Given the description of an element on the screen output the (x, y) to click on. 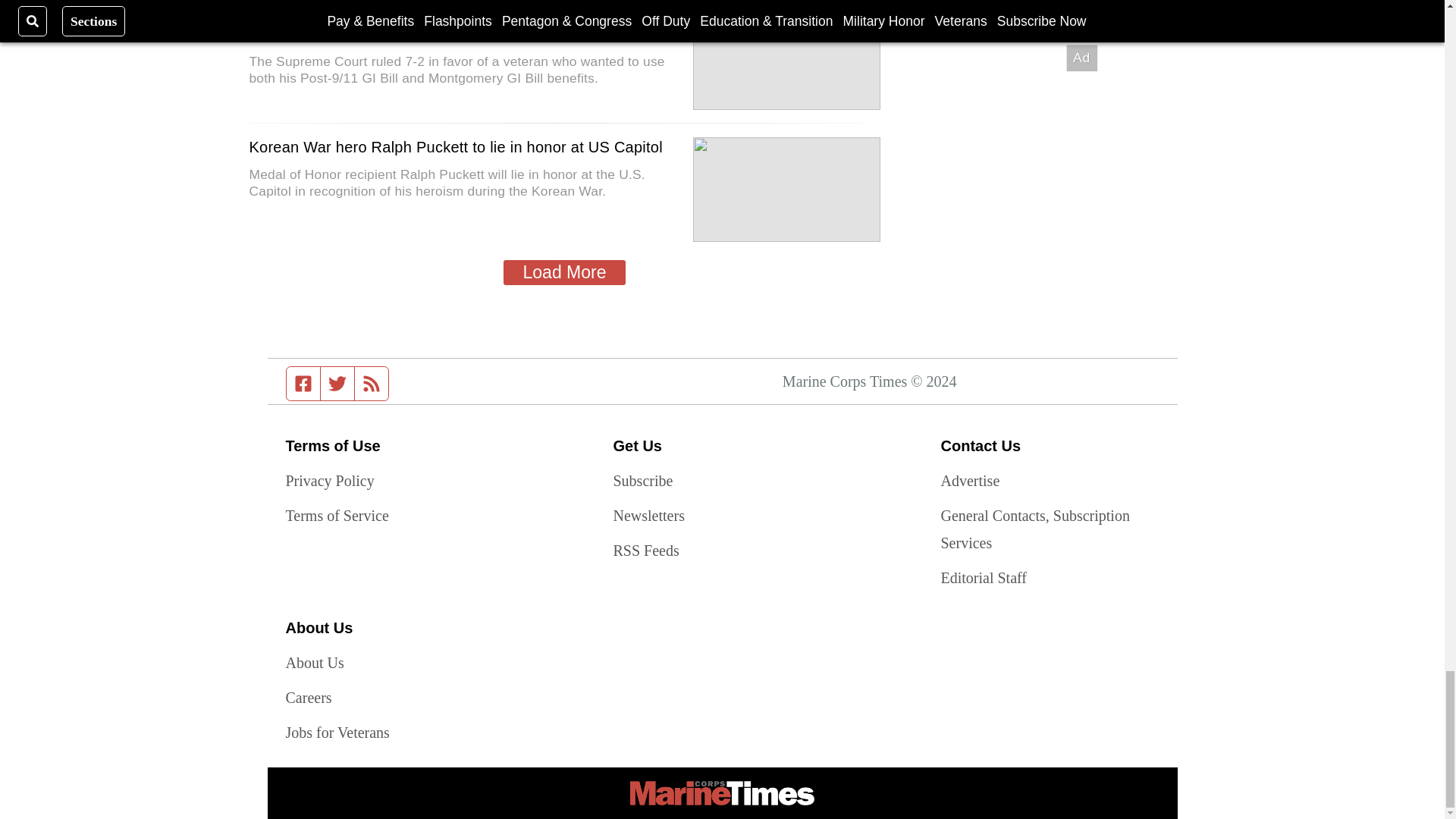
Twitter feed (336, 383)
Facebook page (303, 383)
RSS feed (371, 383)
